Given the description of an element on the screen output the (x, y) to click on. 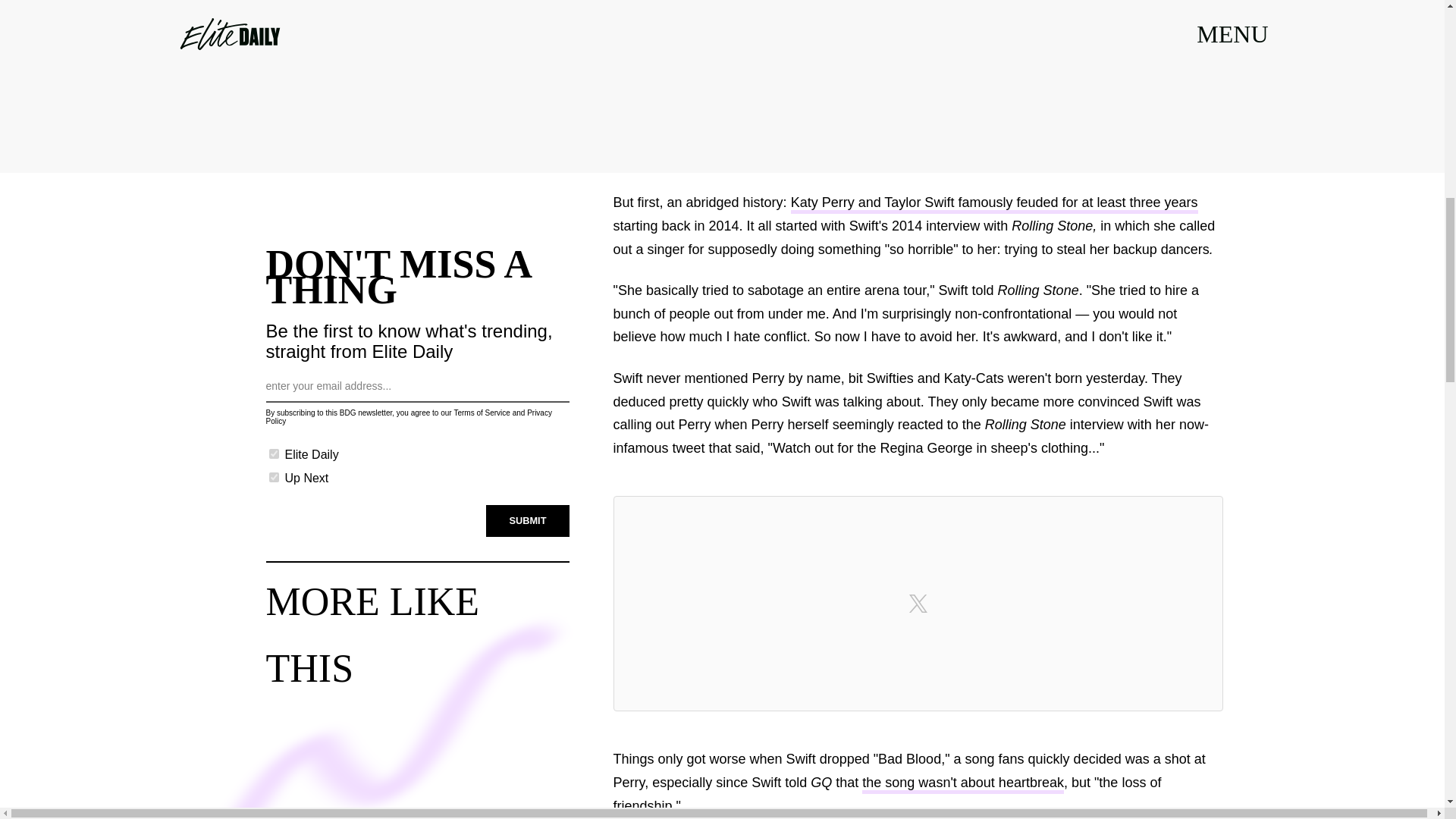
SUBMIT (527, 521)
Privacy Policy (407, 416)
the song wasn't about heartbreak (962, 783)
Terms of Service (480, 412)
